Given the description of an element on the screen output the (x, y) to click on. 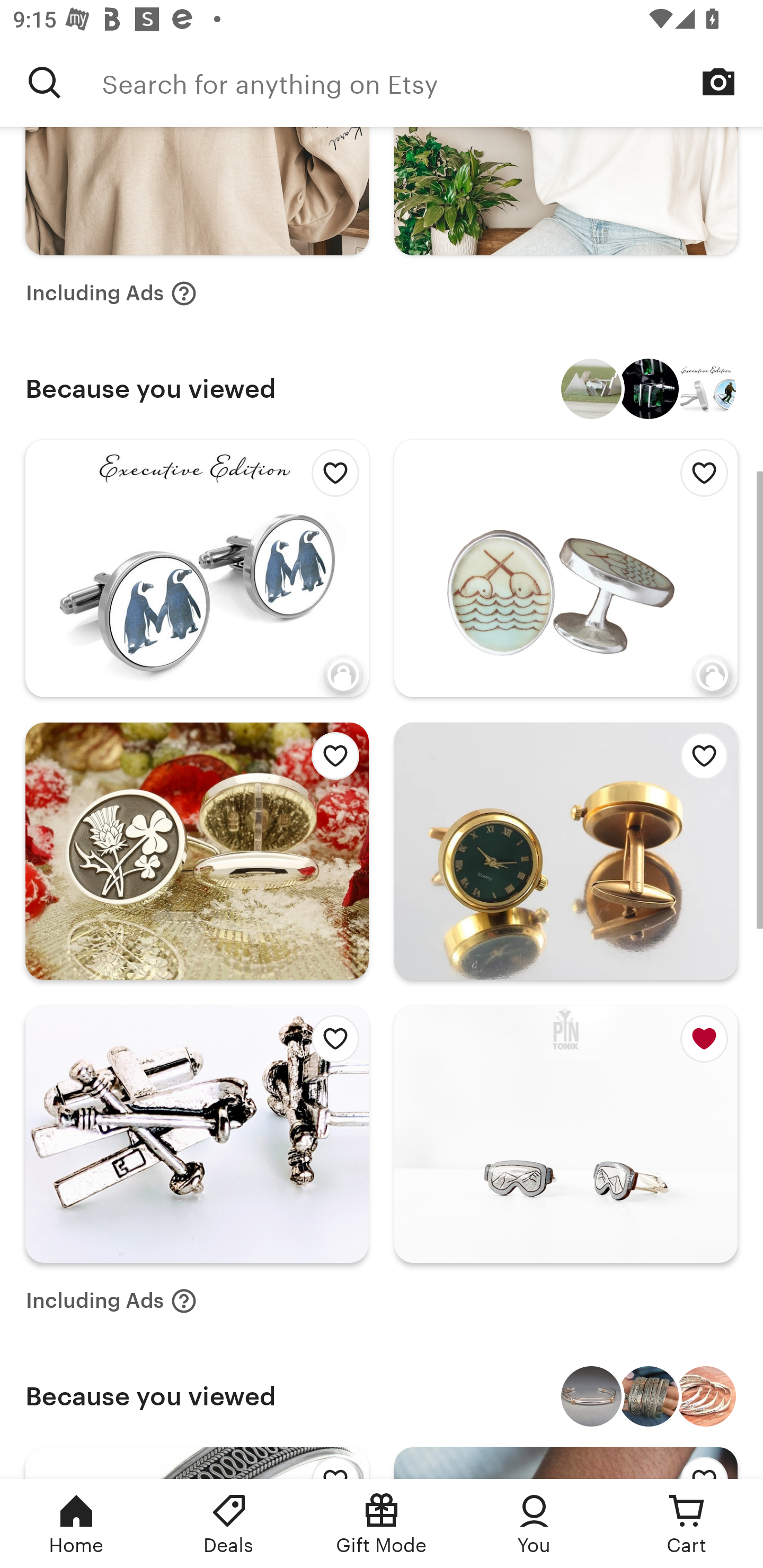
Search for anything on Etsy (44, 82)
Search by image (718, 81)
Search for anything on Etsy (432, 82)
Including Ads (111, 292)
Ski Cuff Links Add Ski Cuff Links to favorites (196, 1133)
Add Ski Cuff Links to favorites (330, 1043)
Including Ads (111, 1300)
Deals (228, 1523)
Gift Mode (381, 1523)
You (533, 1523)
Cart (686, 1523)
